Given the description of an element on the screen output the (x, y) to click on. 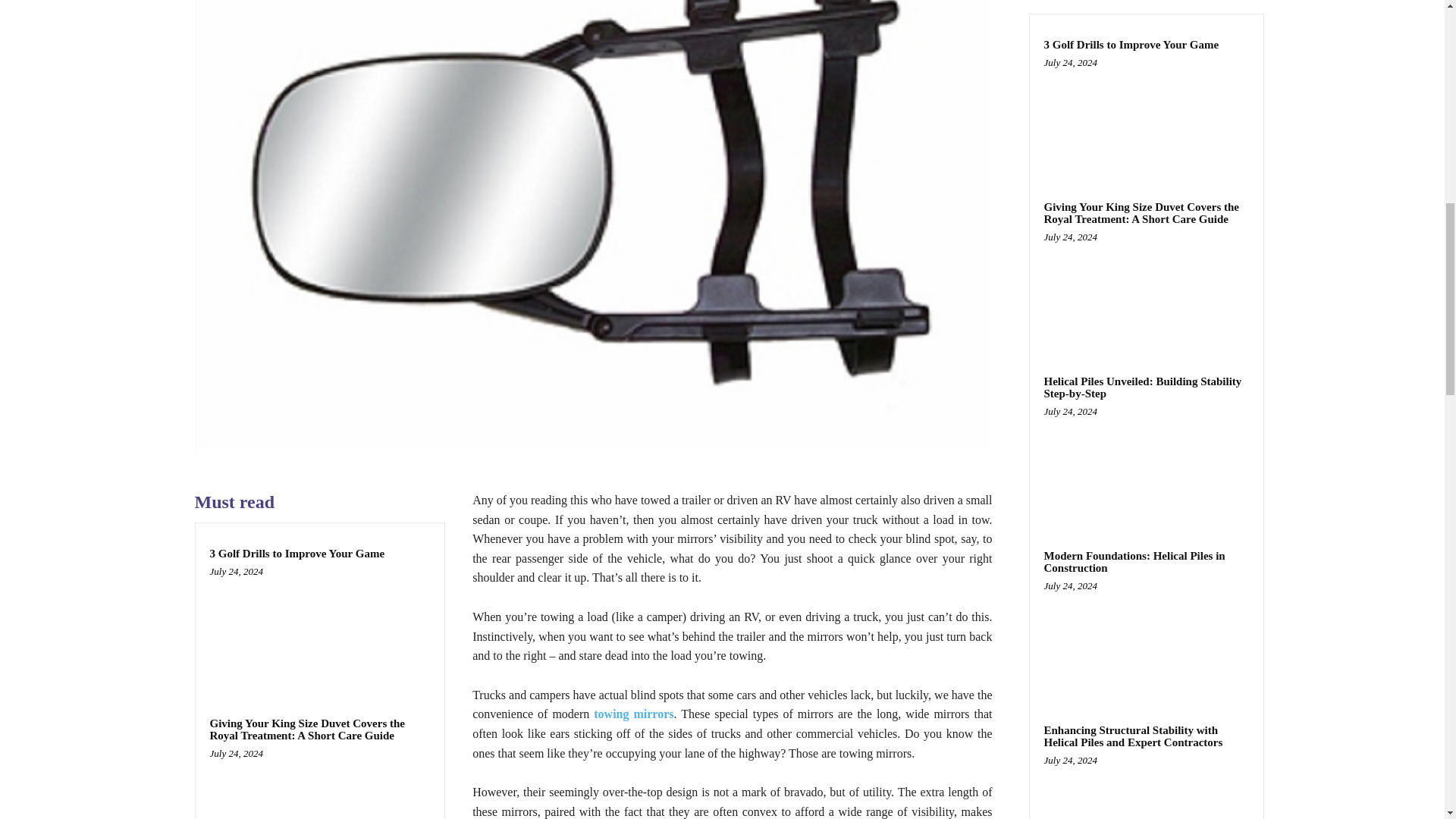
3 Golf Drills to Improve Your Game (319, 629)
3 Golf Drills to Improve Your Game (296, 553)
